Given the description of an element on the screen output the (x, y) to click on. 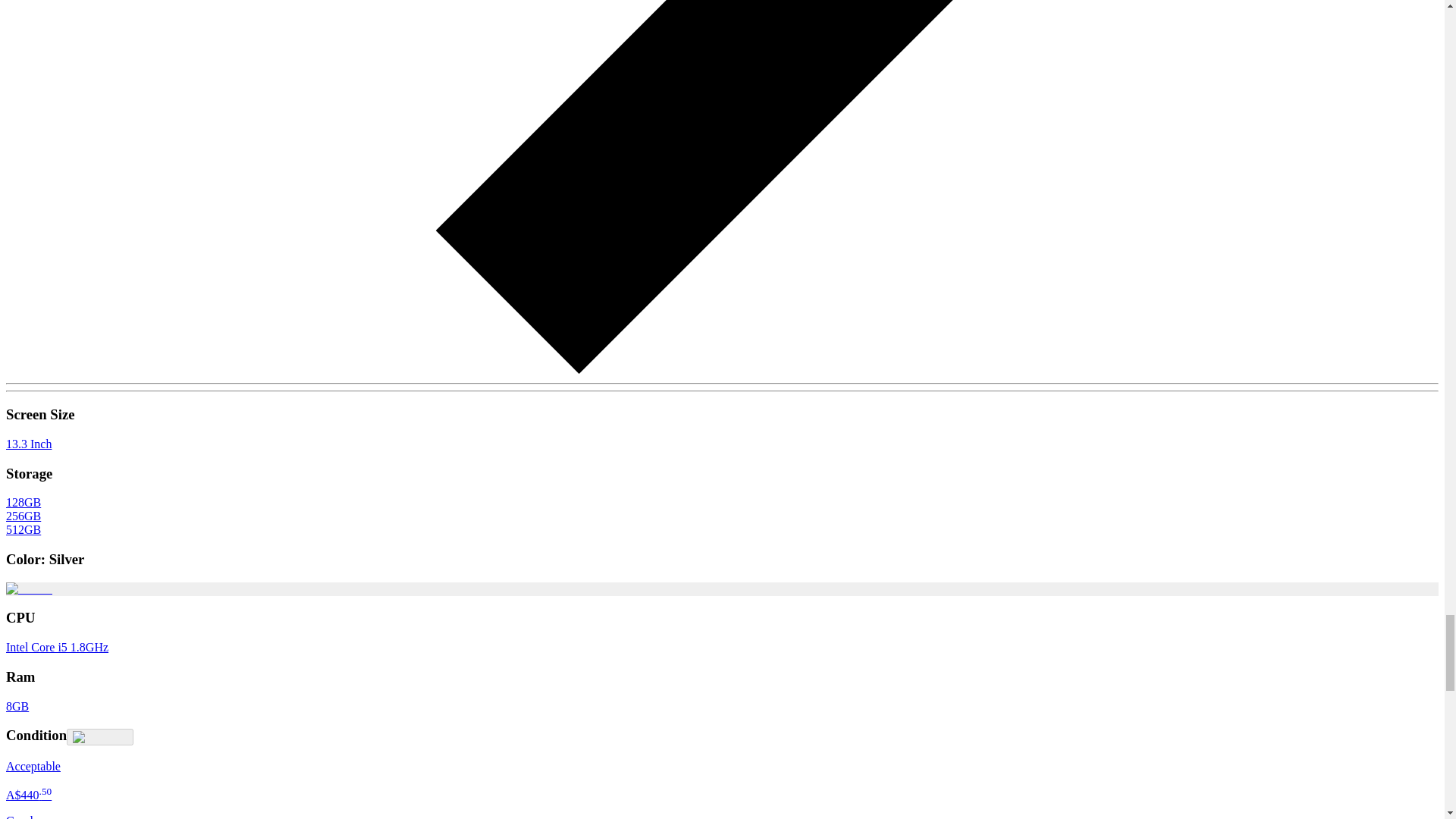
13.3 Inch (27, 443)
